Given the description of an element on the screen output the (x, y) to click on. 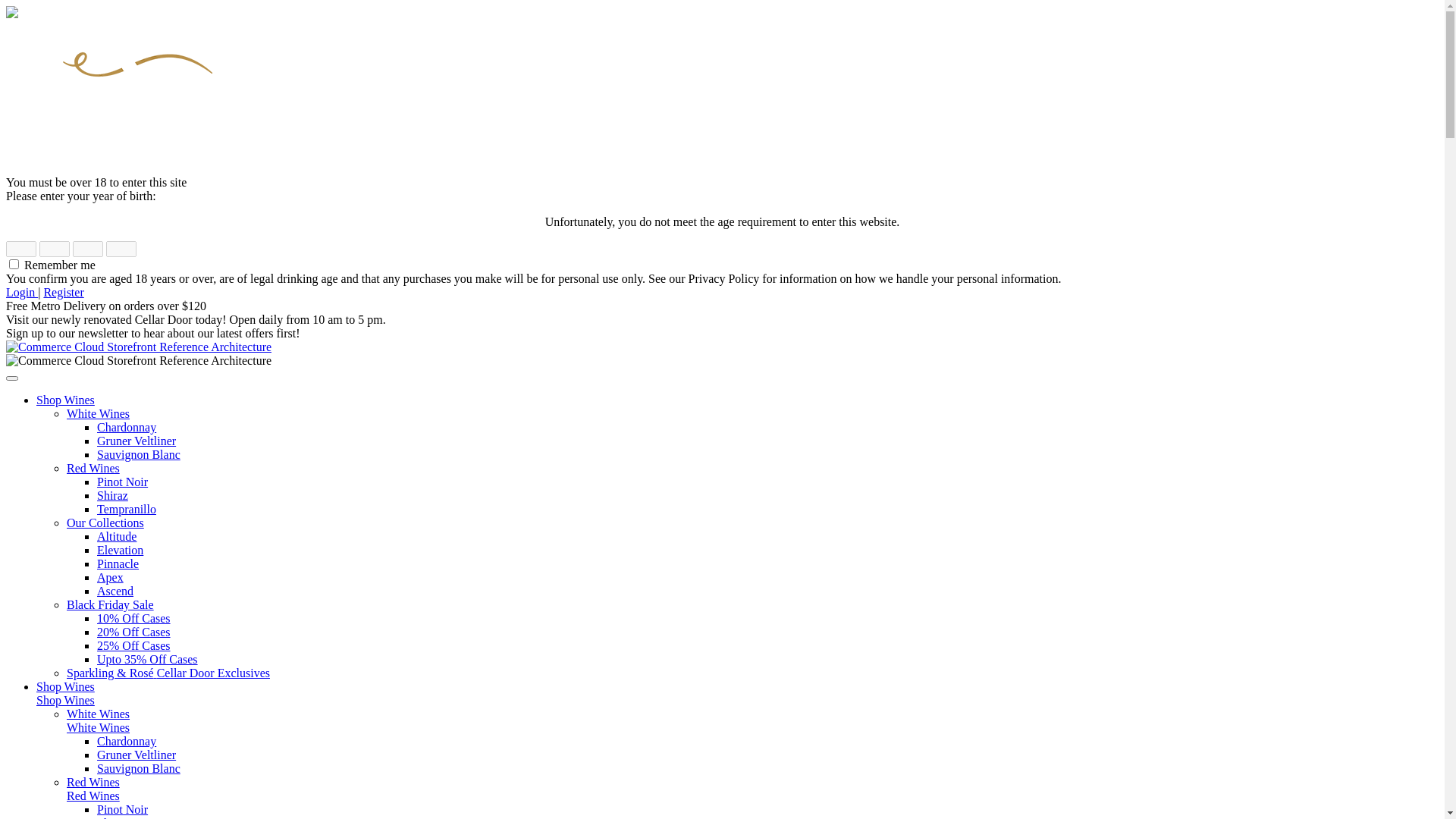
Apex Element type: text (110, 577)
Shop Wines Element type: text (65, 399)
Tempranillo Element type: text (126, 508)
Sauvignon Blanc Element type: text (138, 454)
Sign up to our newsletter Element type: text (67, 332)
Upto 35% Off Cases Element type: text (147, 658)
Altitude Element type: text (116, 536)
White Wines Element type: text (97, 713)
10% Off Cases Element type: text (133, 617)
Chardonnay Element type: text (126, 740)
Shop Wines Element type: text (65, 686)
Elevation Element type: text (120, 549)
Pinot Noir Element type: text (122, 809)
Pinnacle Element type: text (117, 563)
20% Off Cases Element type: text (133, 631)
25% Off Cases Element type: text (133, 645)
White Wines Element type: text (97, 727)
Login Element type: text (21, 291)
Gruner Veltliner Element type: text (136, 754)
Chardonnay Element type: text (126, 426)
Our Collections Element type: text (105, 522)
Black Friday Sale Element type: text (109, 604)
Shiraz Element type: text (112, 495)
Red Wines Element type: text (92, 781)
Ascend Element type: text (115, 590)
White Wines Element type: text (97, 413)
Pinot Noir Element type: text (122, 481)
Cellar Door Exclusives Element type: text (212, 672)
Sauvignon Blanc Element type: text (138, 768)
Red Wines Element type: text (92, 467)
Gruner Veltliner Element type: text (136, 440)
Register Element type: text (63, 291)
Red Wines Element type: text (92, 795)
Shop Wines Element type: text (65, 699)
